Given the description of an element on the screen output the (x, y) to click on. 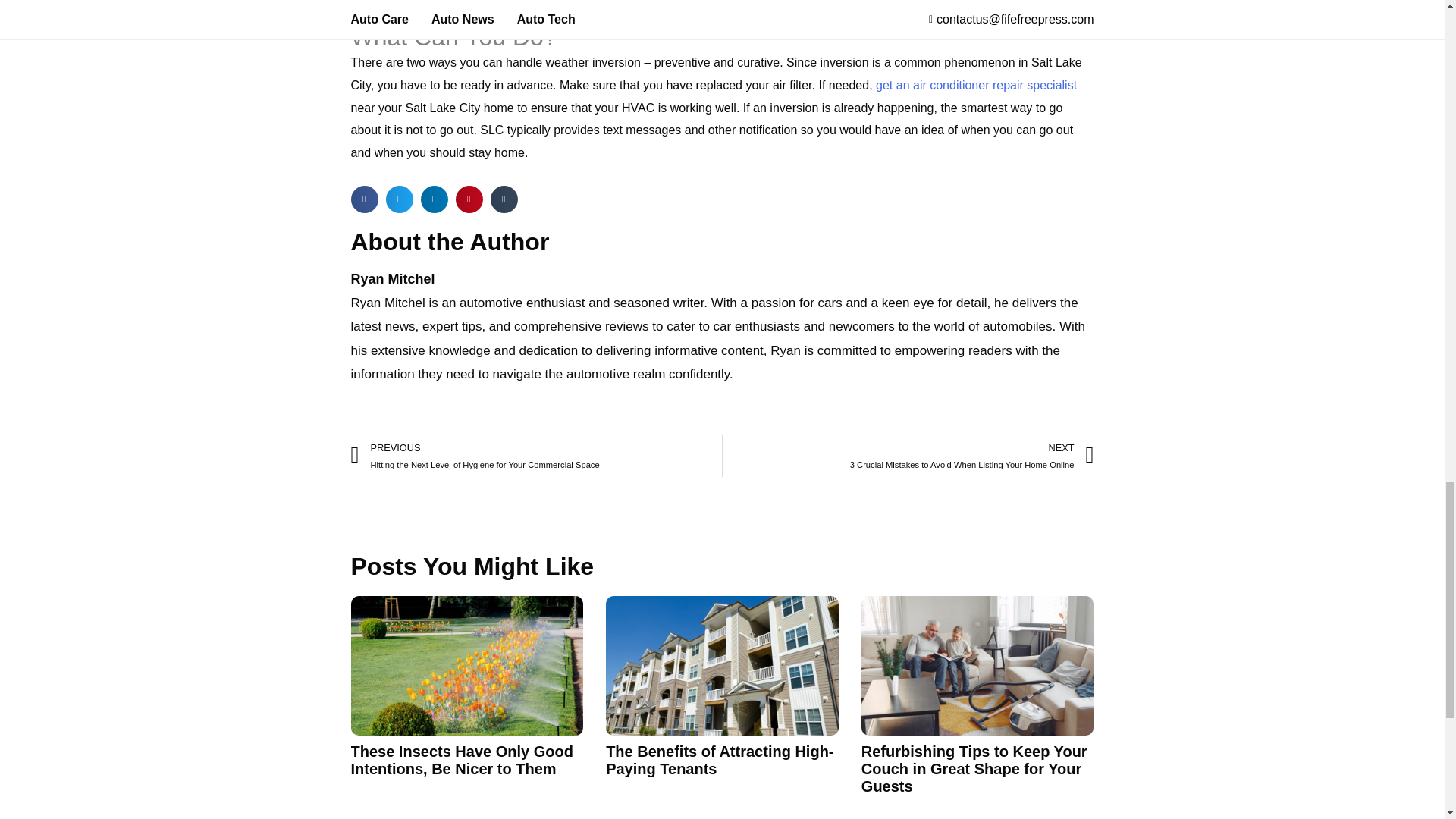
get an air conditioner repair specialist (976, 84)
These Insects Have Only Good Intentions, Be Nicer to Them (461, 759)
The Benefits of Attracting High-Paying Tenants (718, 759)
